Given the description of an element on the screen output the (x, y) to click on. 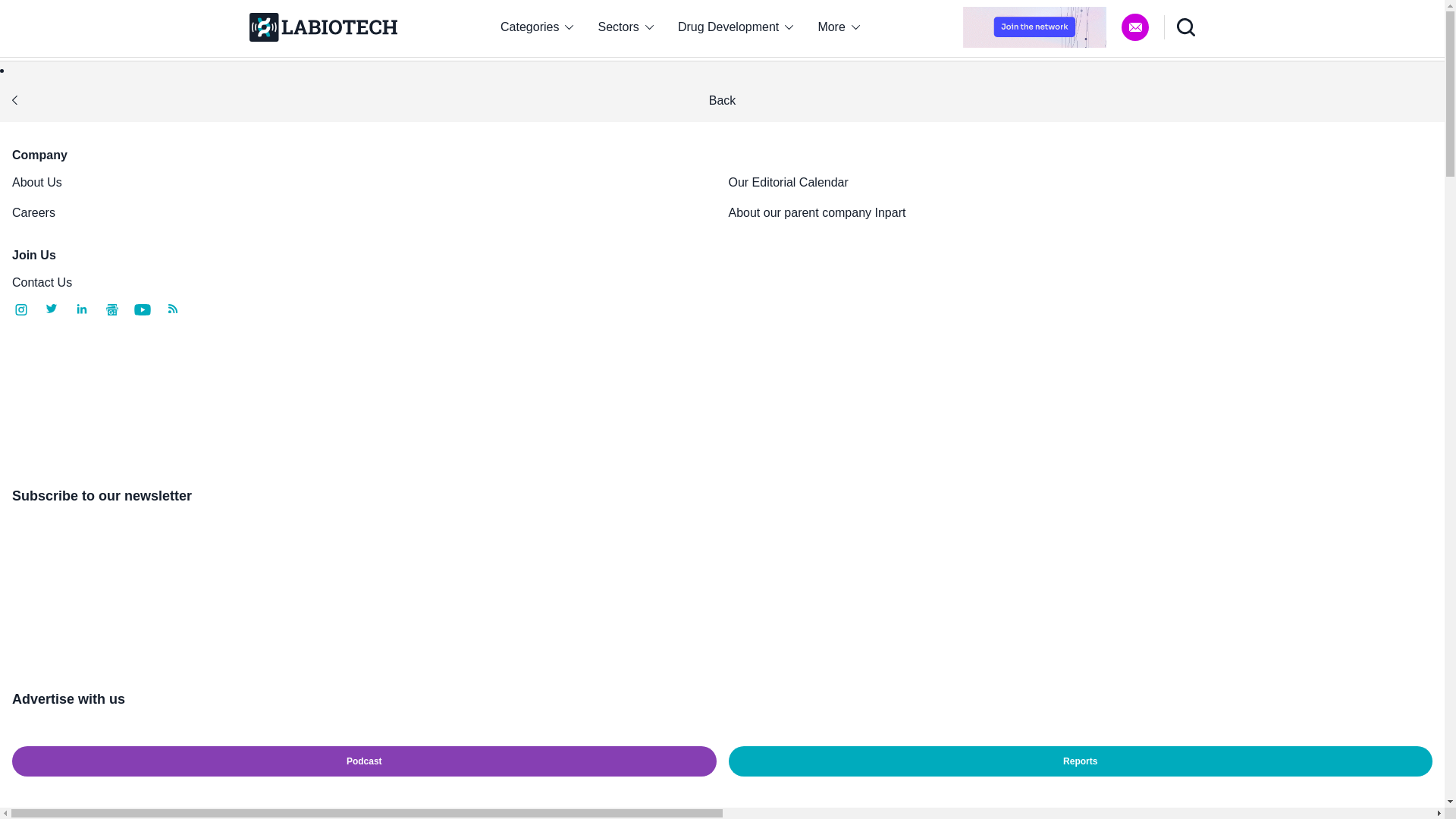
Drug Development (735, 27)
Sectors (625, 27)
Categories (536, 27)
Labiotech.eu (322, 27)
